Given the description of an element on the screen output the (x, y) to click on. 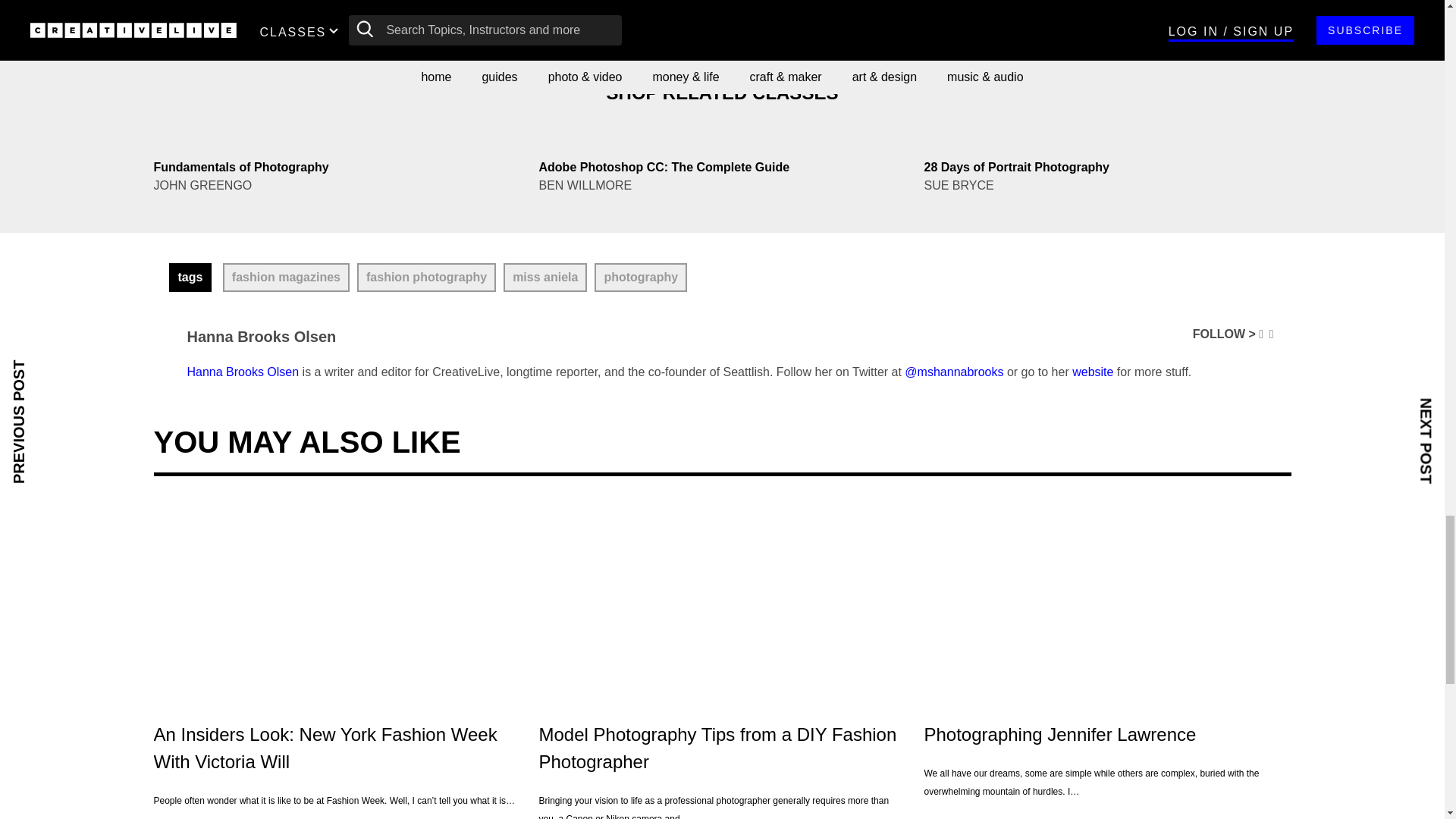
Model Photography Tips from a DIY Fashion Photographer (721, 597)
Photographing Jennifer Lawrence (1106, 597)
An Insiders Look: New York Fashion Week With Victoria Will (335, 597)
